Given the description of an element on the screen output the (x, y) to click on. 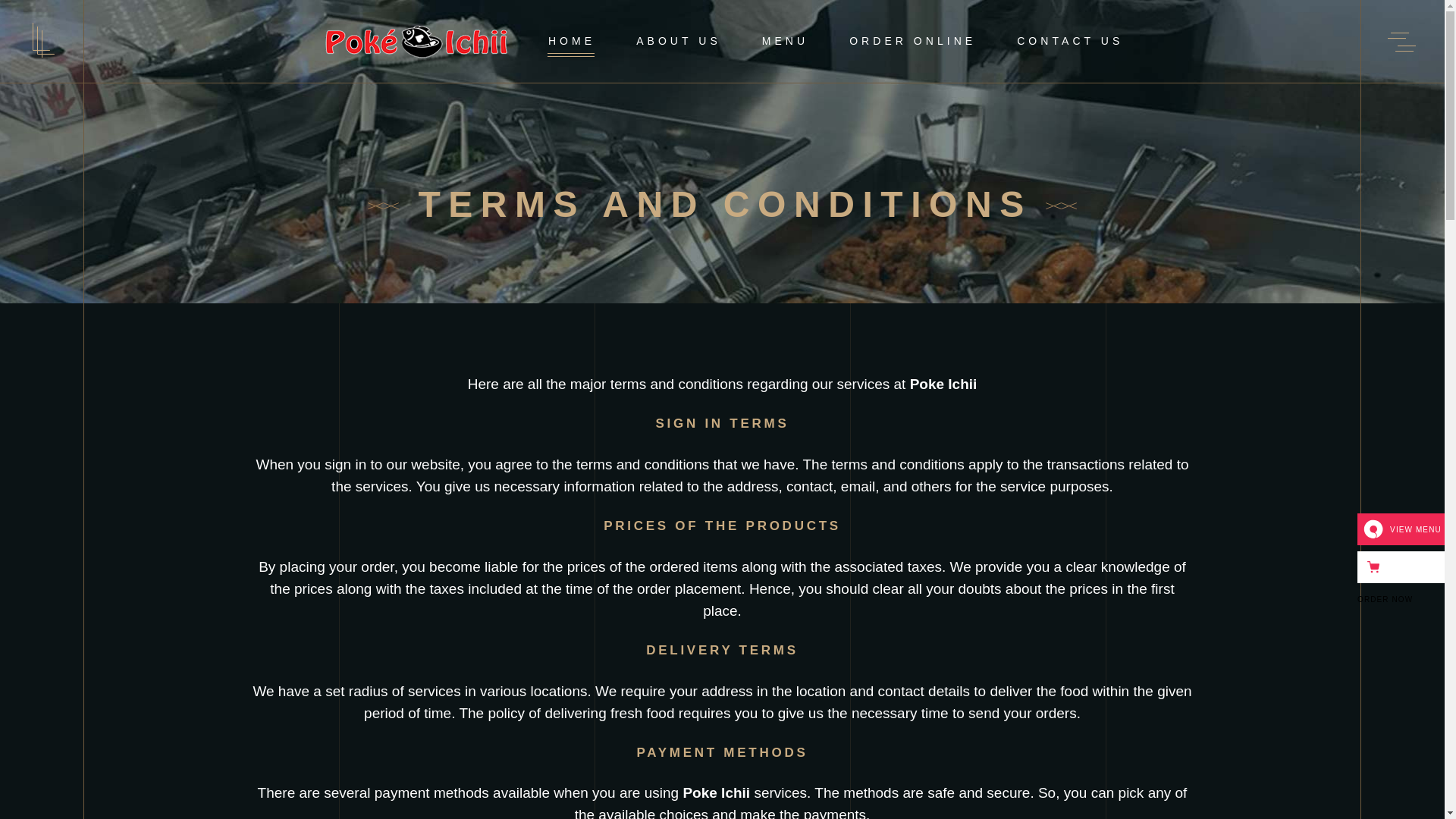
CONTACT US (1068, 40)
ABOUT US (678, 40)
MENU (784, 40)
ORDER ONLINE (911, 40)
HOME (571, 40)
